Given the description of an element on the screen output the (x, y) to click on. 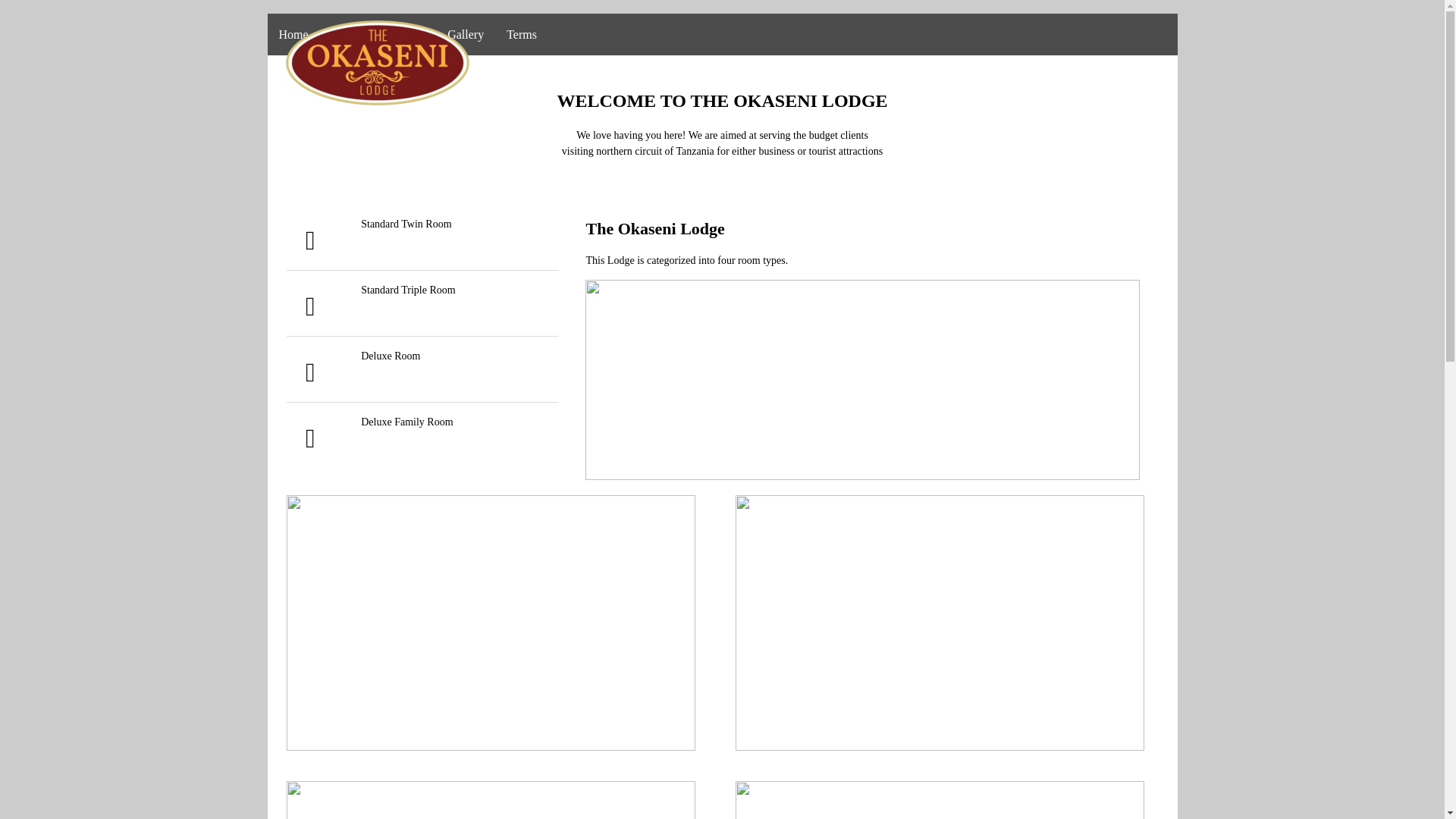
Gallery (465, 34)
Home (292, 34)
Terms (521, 34)
